Given the description of an element on the screen output the (x, y) to click on. 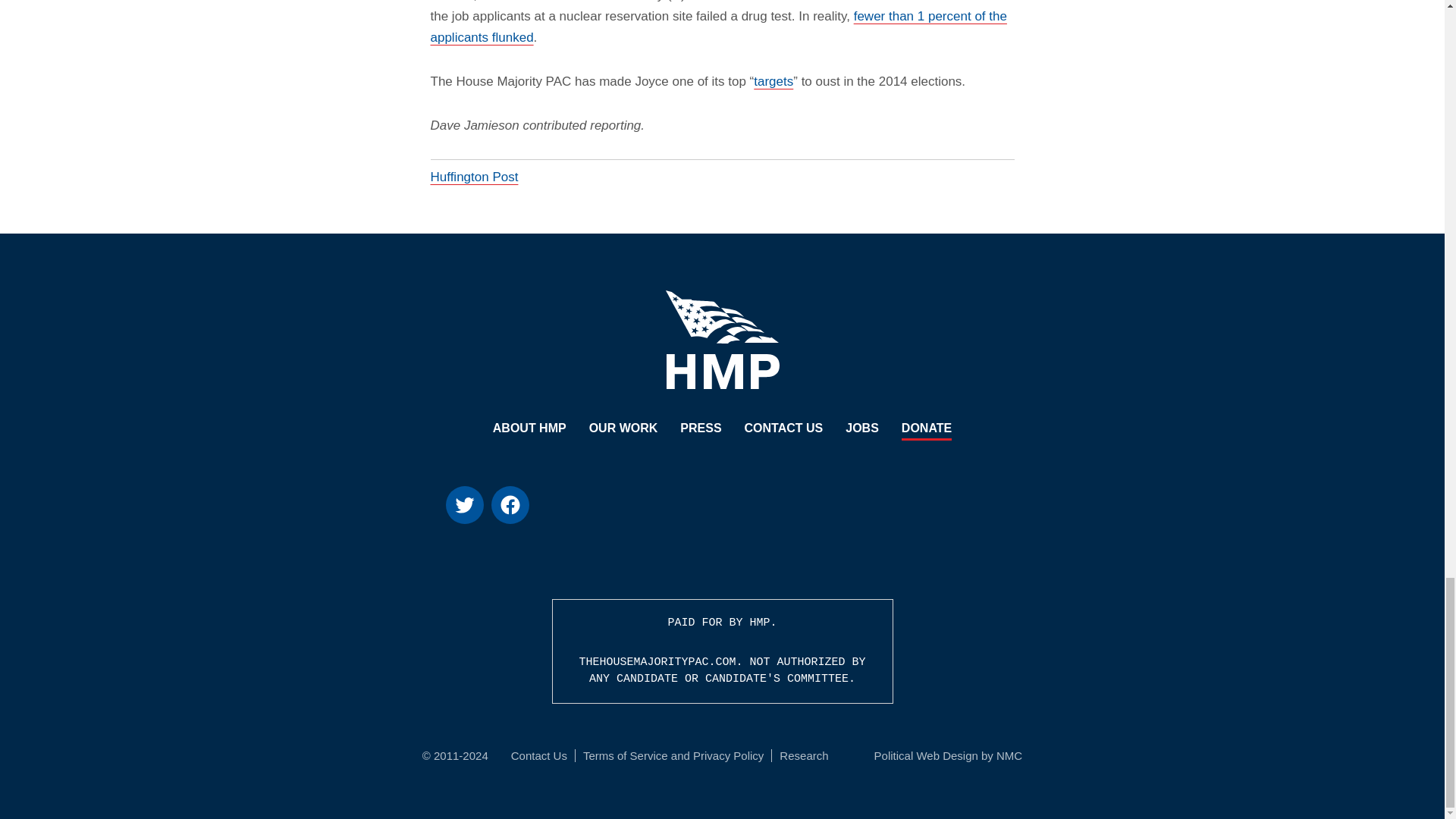
Huffington Post (474, 176)
fewer than 1 percent of the applicants flunked (718, 27)
CONTACT US (784, 429)
Terms of Service and Privacy Policy (672, 755)
OUR WORK (623, 429)
Research (803, 755)
DONATE (926, 429)
targets (773, 81)
Contact Us (539, 755)
Political Web Design (926, 755)
